Given the description of an element on the screen output the (x, y) to click on. 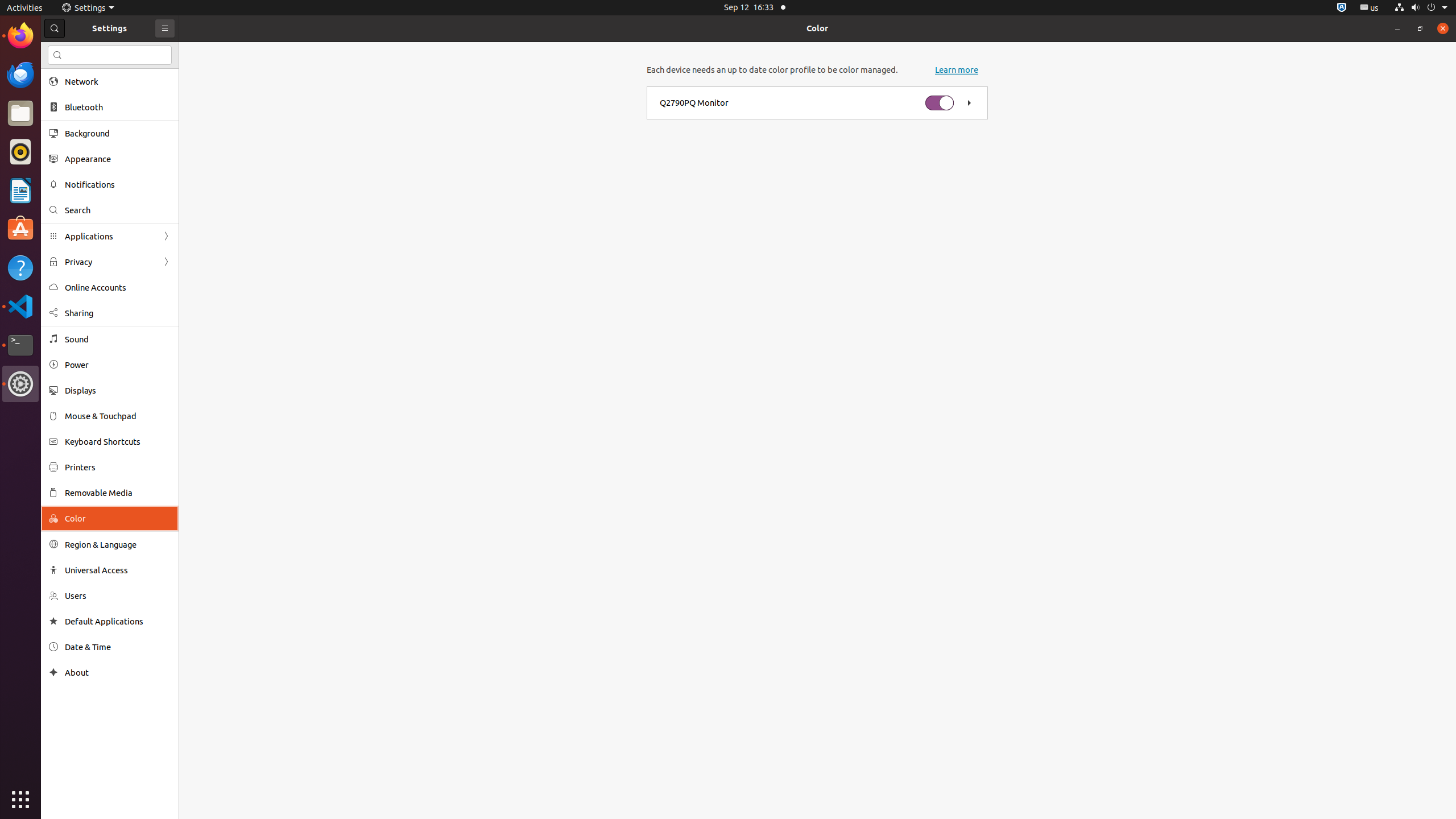
Region & Language Element type: label (117, 544)
Firefox Web Browser Element type: push-button (20, 35)
Notifications Element type: label (117, 184)
Terminal Element type: push-button (20, 344)
Trash Element type: label (75, 108)
